Given the description of an element on the screen output the (x, y) to click on. 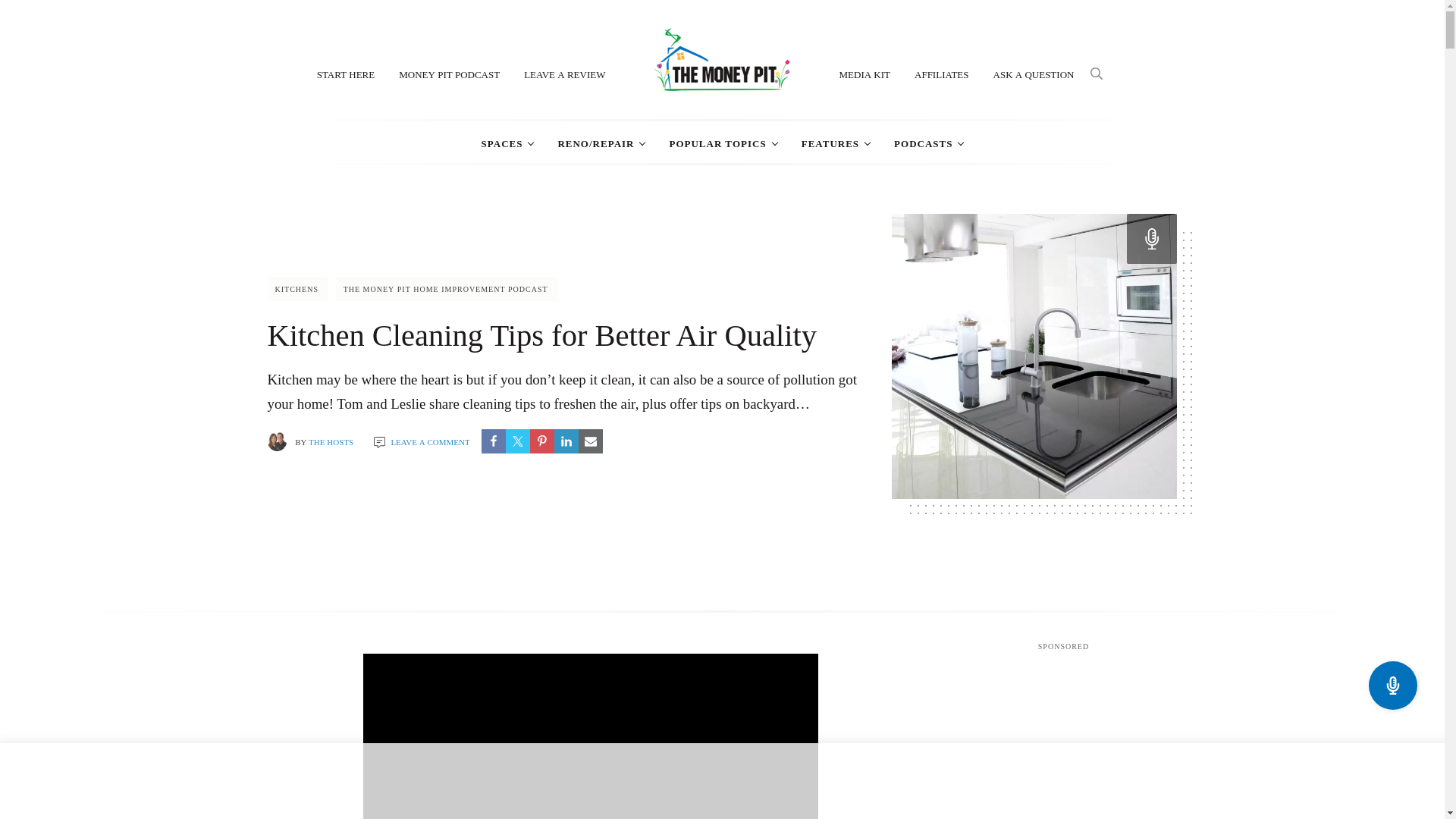
Share on Twitter (517, 441)
Share via Email (590, 441)
Money Pit Podcast (449, 73)
Share on Pinterest (541, 441)
Ask a Question (1033, 73)
Start Here (345, 73)
Leave a Review (564, 73)
Media Kit (864, 73)
Share on Facebook (493, 441)
